Given the description of an element on the screen output the (x, y) to click on. 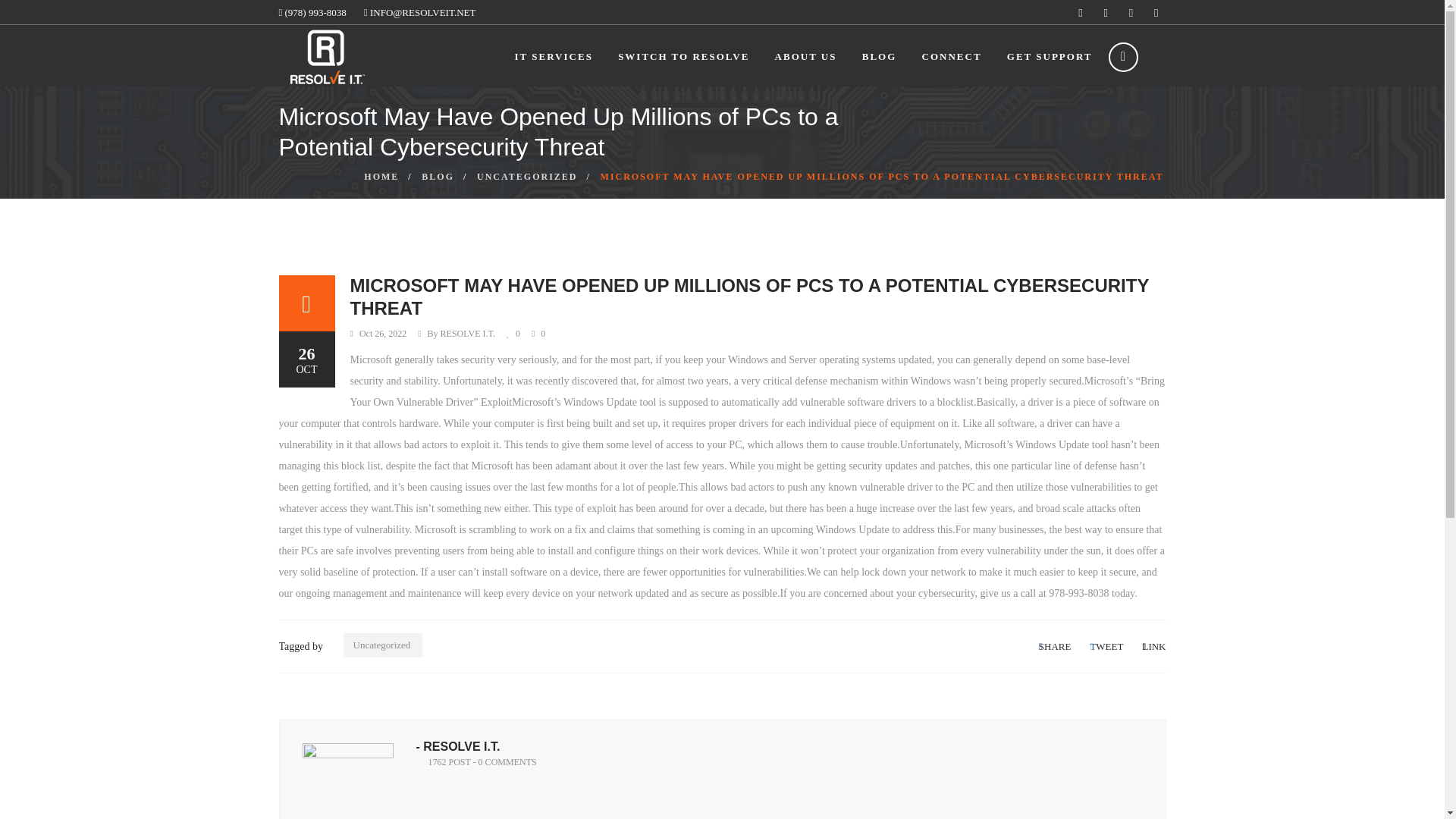
GET SUPPORT (1050, 56)
By RESOLVE I.T. (461, 333)
CONNECT (951, 56)
ABOUT US (805, 56)
IT SERVICES (553, 56)
BLOG (438, 176)
BLOG (878, 56)
UNCATEGORIZED (526, 176)
SWITCH TO RESOLVE (683, 56)
HOME (381, 176)
